Given the description of an element on the screen output the (x, y) to click on. 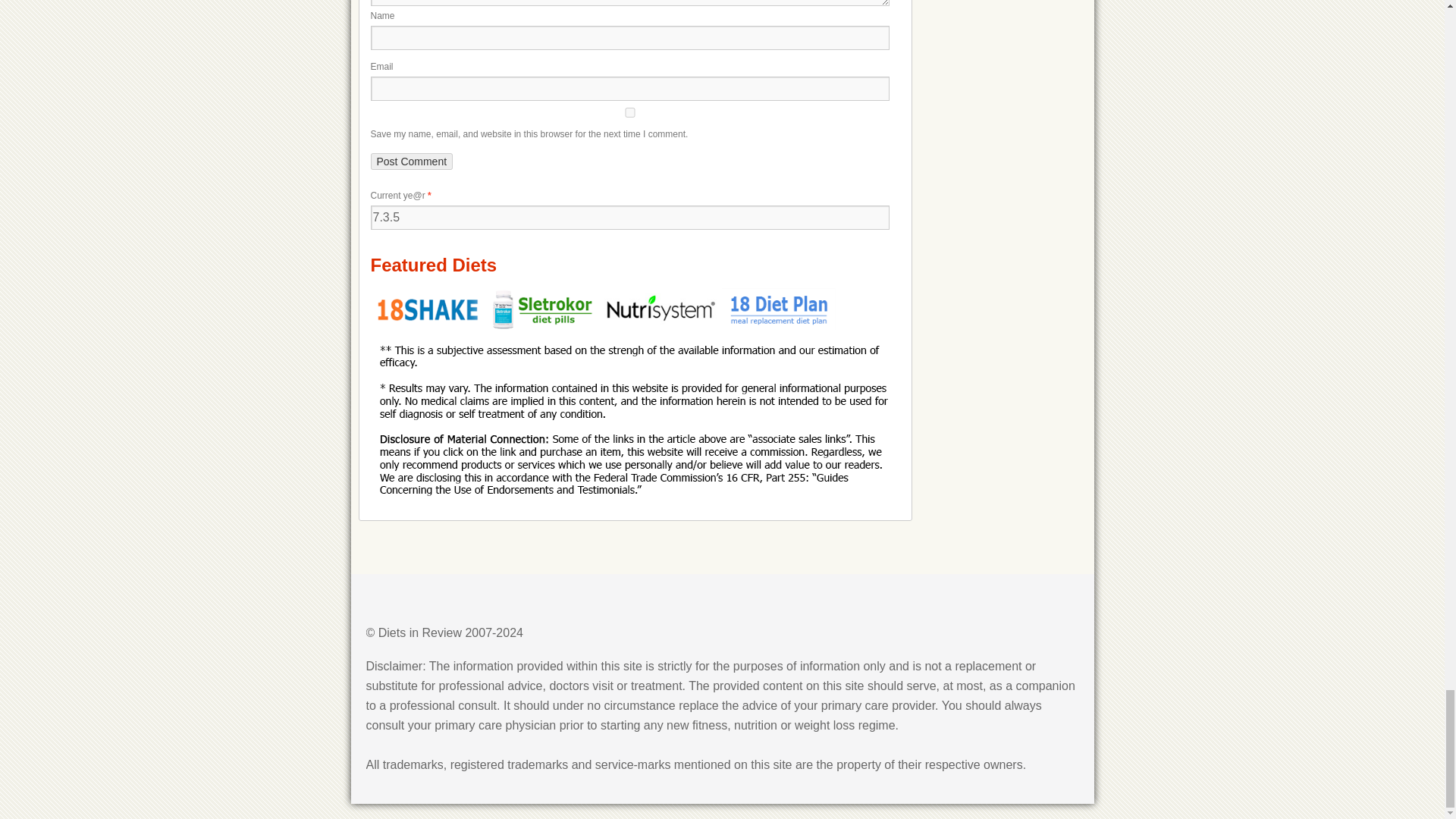
7.3.5 (628, 217)
Sletrokor (545, 325)
yes (628, 112)
18 Shake (427, 325)
Nutrisystem (662, 325)
Post Comment (410, 161)
18 Diet (778, 325)
